Given the description of an element on the screen output the (x, y) to click on. 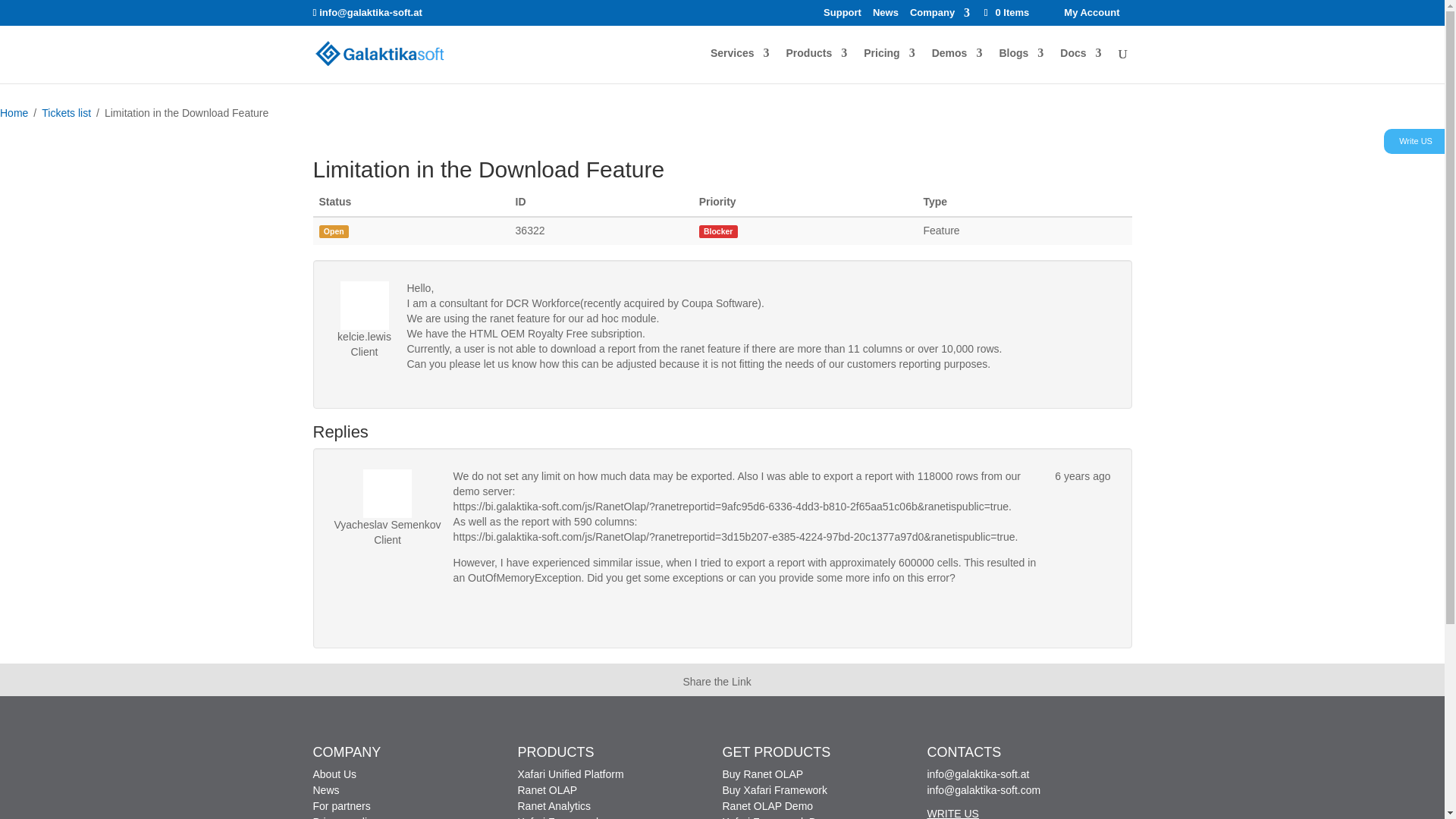
Services (740, 65)
Blogs (1020, 65)
Demos (956, 65)
Docs (1079, 65)
Products (816, 65)
Company (939, 16)
News (885, 16)
Pricing (888, 65)
Support (842, 16)
My Account (1091, 12)
